Given the description of an element on the screen output the (x, y) to click on. 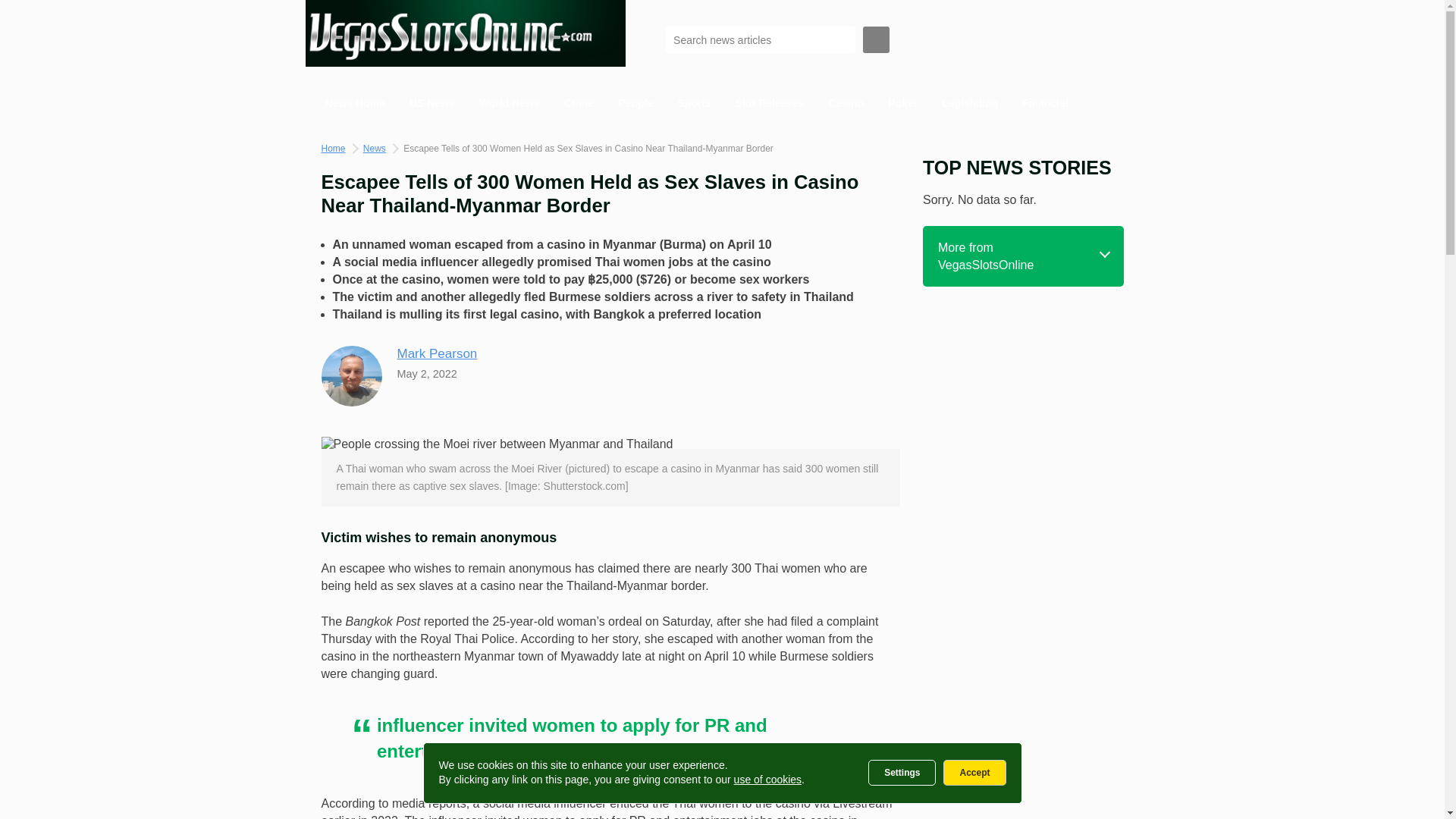
People (635, 103)
Crime (579, 103)
World News (509, 103)
Financial (1045, 103)
Slot Releases (769, 103)
Casino (846, 103)
Legislation (970, 103)
News (373, 148)
News Home (354, 103)
US News (432, 103)
